Given the description of an element on the screen output the (x, y) to click on. 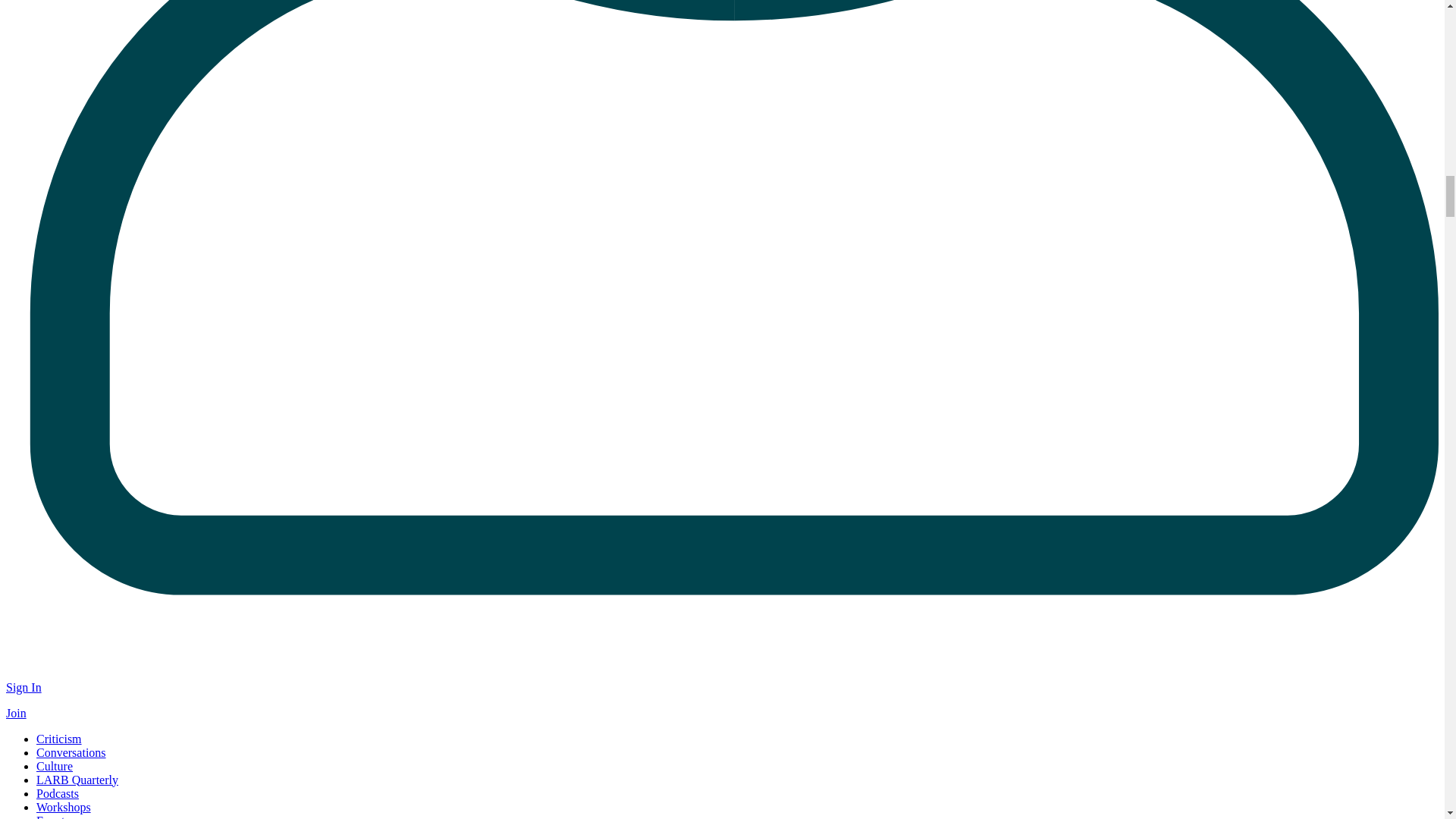
Sign In (23, 686)
Culture (54, 766)
Conversations (71, 752)
Podcasts (57, 793)
LARB Quarterly (76, 779)
Criticism (58, 738)
Workshops (63, 807)
Events (52, 816)
